Given the description of an element on the screen output the (x, y) to click on. 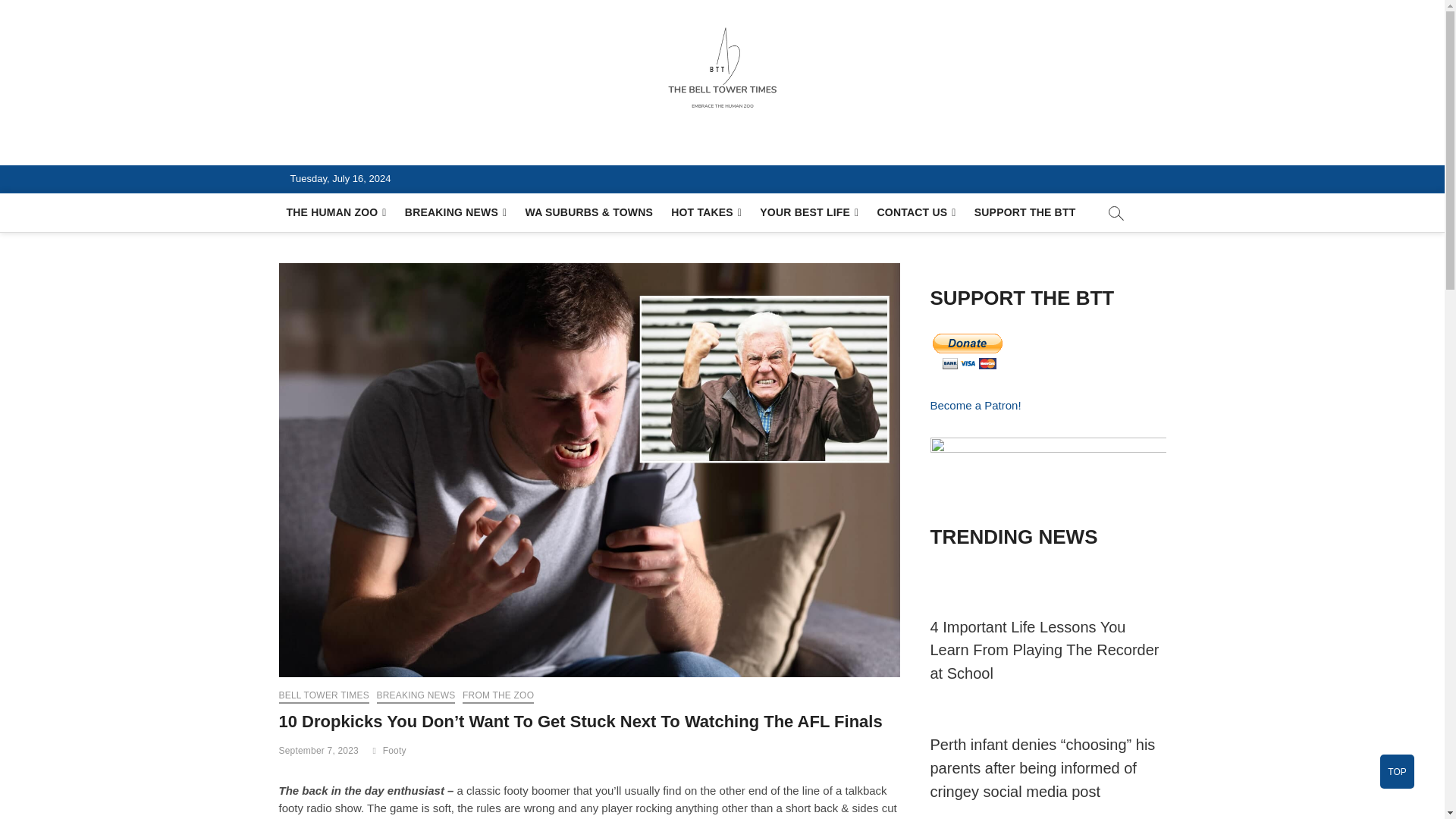
THE HUMAN ZOO (336, 212)
September 7, 2023 (318, 750)
BREAKING NEWS (456, 212)
The Bell Tower Times (416, 146)
HOT TAKES (706, 212)
YOUR BEST LIFE (809, 212)
The Bell Tower Times (416, 146)
